Given the description of an element on the screen output the (x, y) to click on. 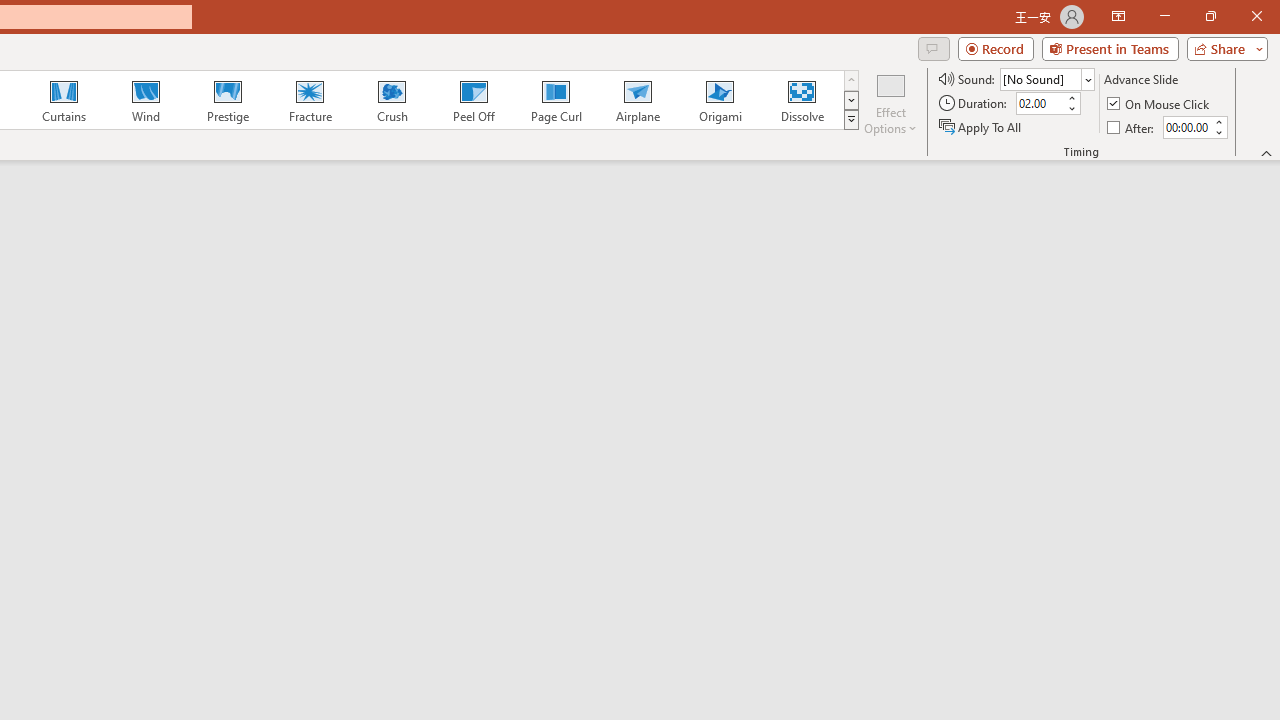
Crush (391, 100)
